Given the description of an element on the screen output the (x, y) to click on. 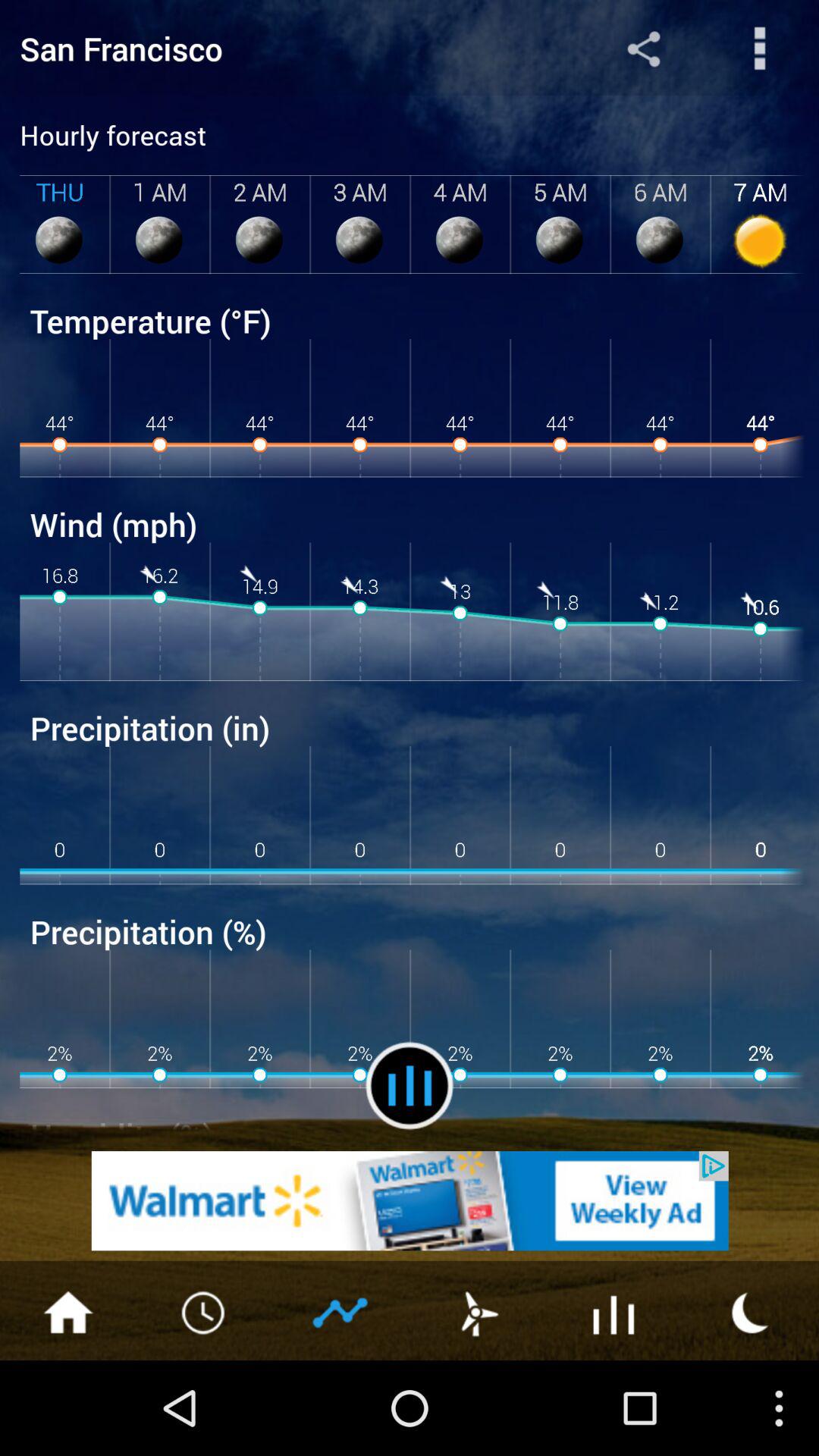
next (341, 1311)
